Given the description of an element on the screen output the (x, y) to click on. 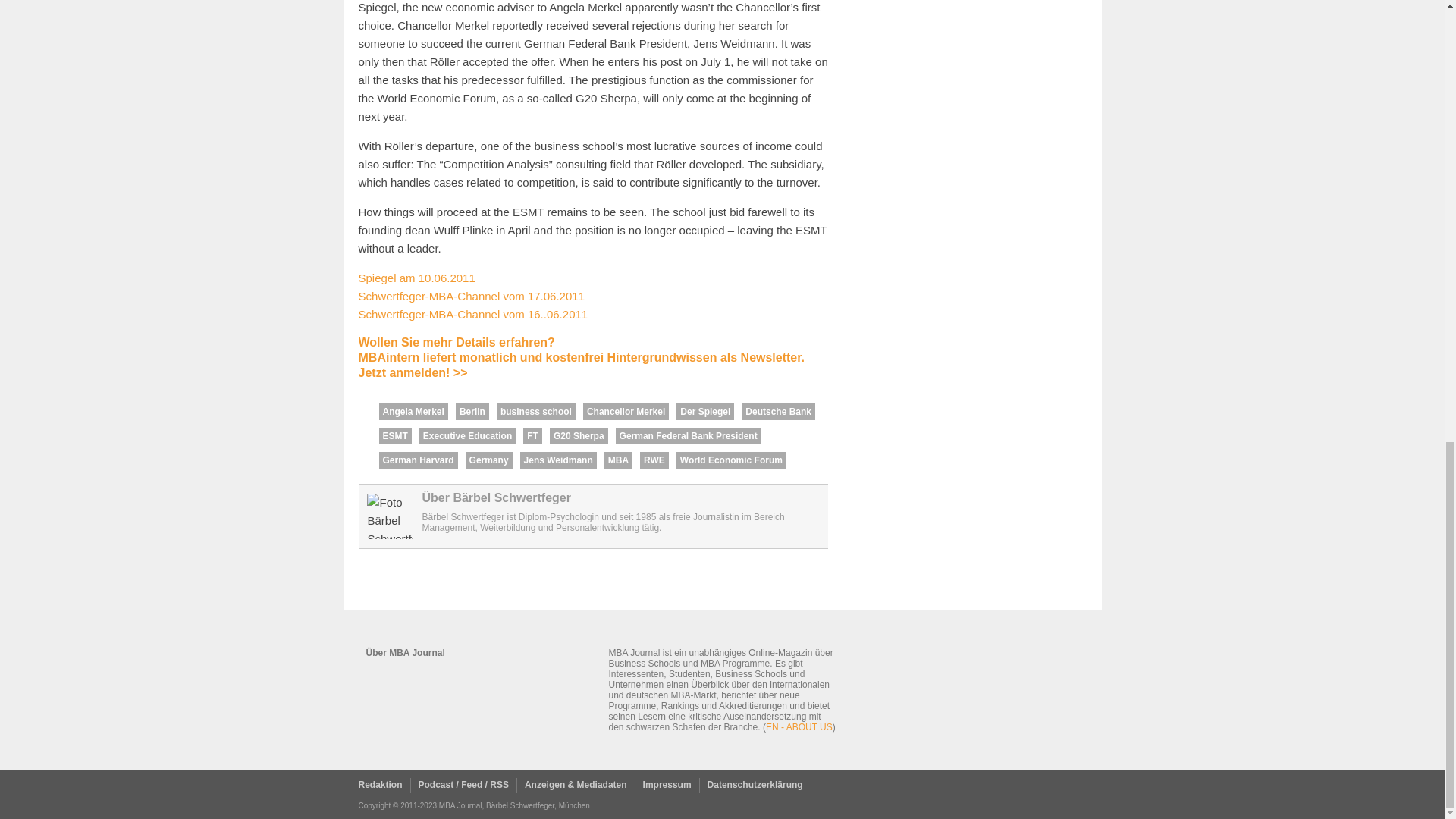
Berlin (472, 411)
G20 Sherpa (579, 435)
Schwertfeger-MBA-Channel vom 17.06.2011 (471, 295)
Der Spiegel (705, 411)
Executive Education (467, 435)
FT (531, 435)
Angela Merkel (413, 411)
business school (535, 411)
Spiegel am 10.06.2011 (416, 277)
ESMT (395, 435)
Schwertfeger-MBA-Channel vom 16..06.2011 (473, 314)
Chancellor Merkel (625, 411)
Deutsche Bank (778, 411)
